Given the description of an element on the screen output the (x, y) to click on. 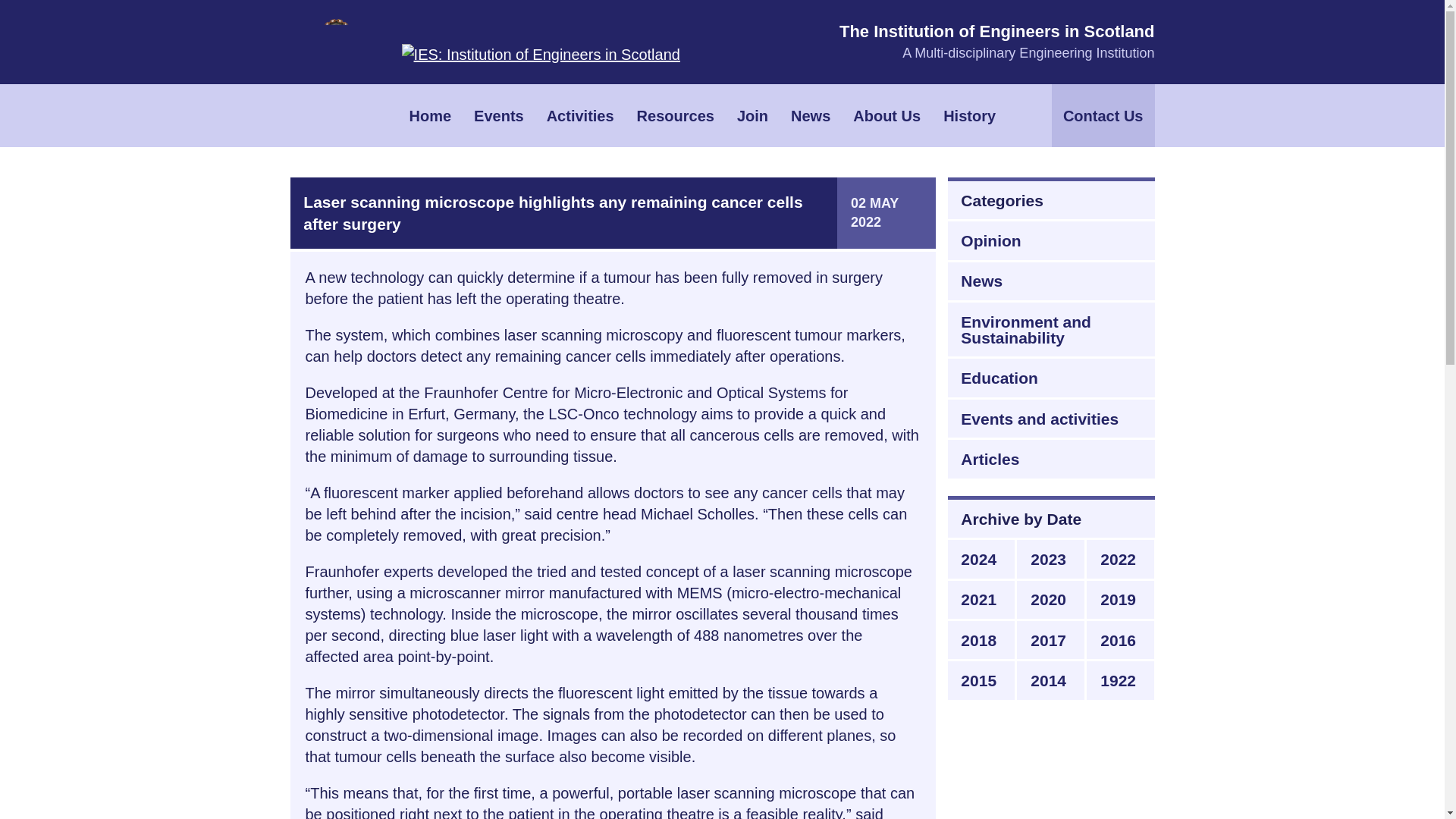
About Us (886, 115)
Events (499, 115)
Home (430, 115)
Resources (675, 115)
Activities (580, 115)
News (809, 115)
